Given the description of an element on the screen output the (x, y) to click on. 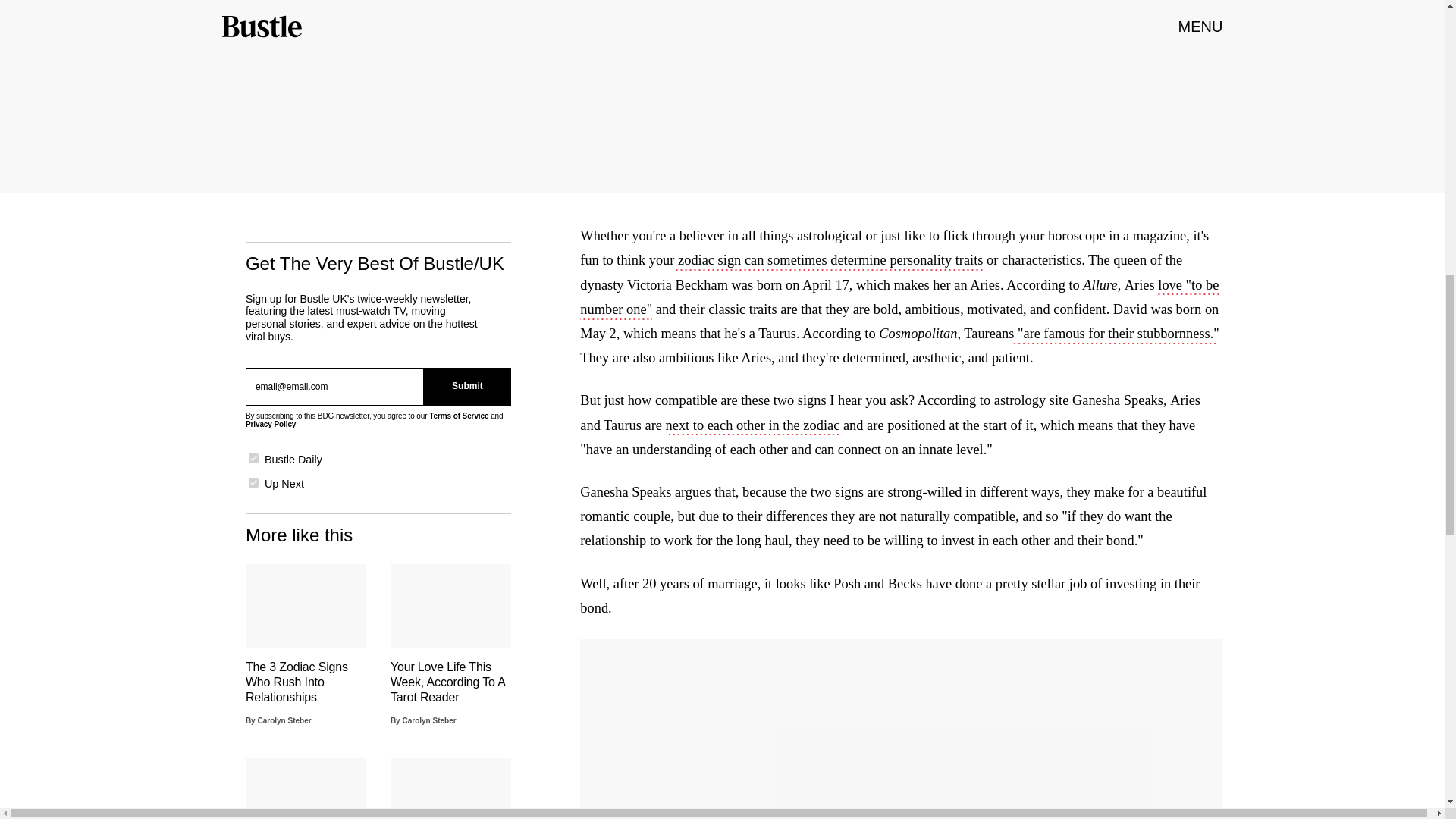
Behold: Your Favorite Rom-Coms, Rewritten For 2024 (450, 788)
love "to be number one" (898, 298)
Privacy Policy (270, 424)
Submit (467, 386)
next to each other in the zodiac (752, 426)
Terms of Service (458, 415)
"are famous for their stubbornness." (1115, 334)
zodiac sign can sometimes determine personality traits (828, 261)
